Given the description of an element on the screen output the (x, y) to click on. 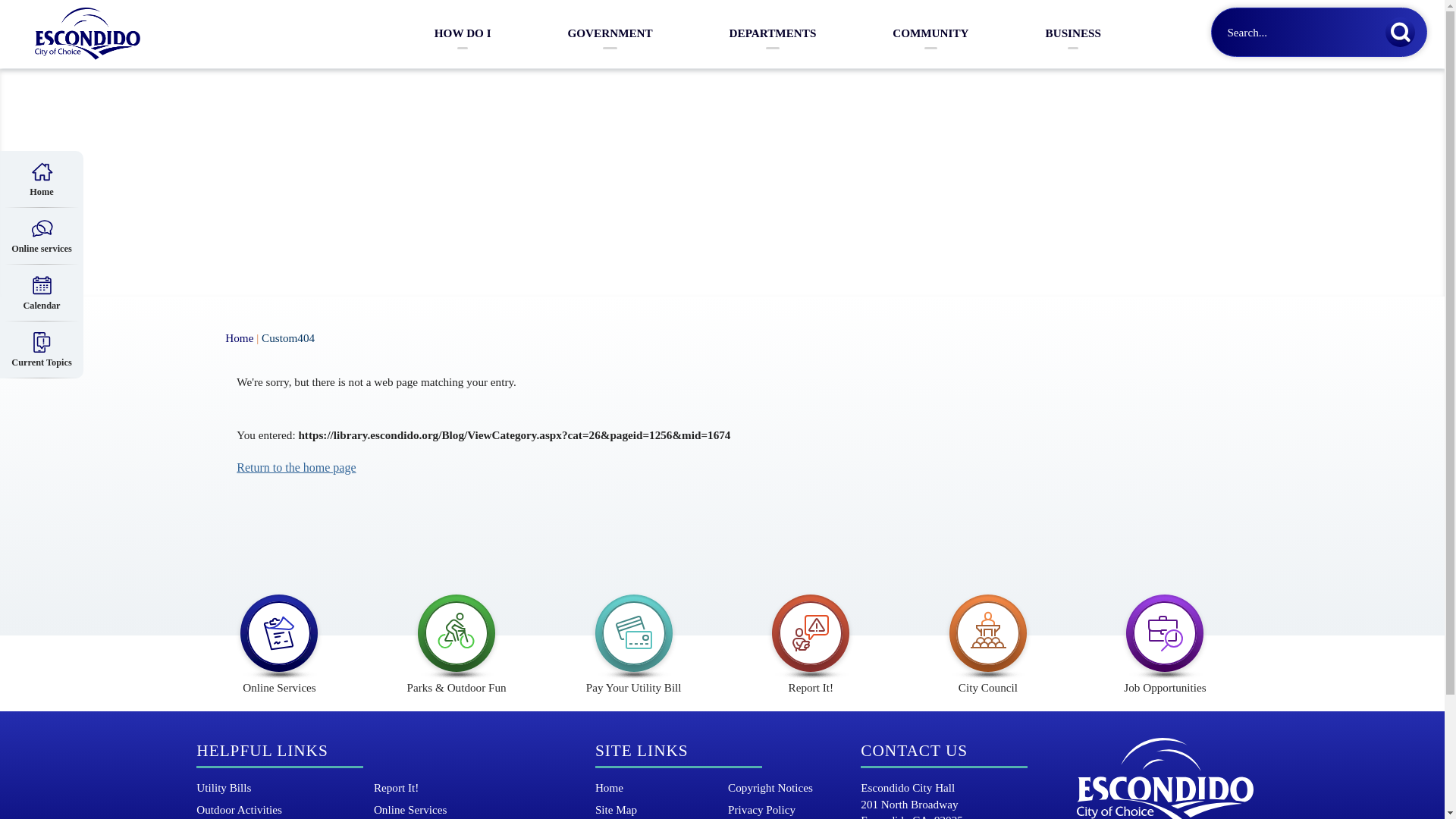
Utility Bills (223, 787)
DEPARTMENTS (771, 32)
Online Services (410, 809)
Home (239, 337)
Site Map (616, 809)
Online Services (279, 638)
Job Opportunities (1165, 638)
Privacy Policy (761, 809)
HOW DO I (462, 32)
Home (609, 787)
Report It! (396, 787)
Outdoor Activities (239, 809)
HELPFUL LINKS (261, 751)
Search... (1318, 31)
Online services (41, 236)
